Given the description of an element on the screen output the (x, y) to click on. 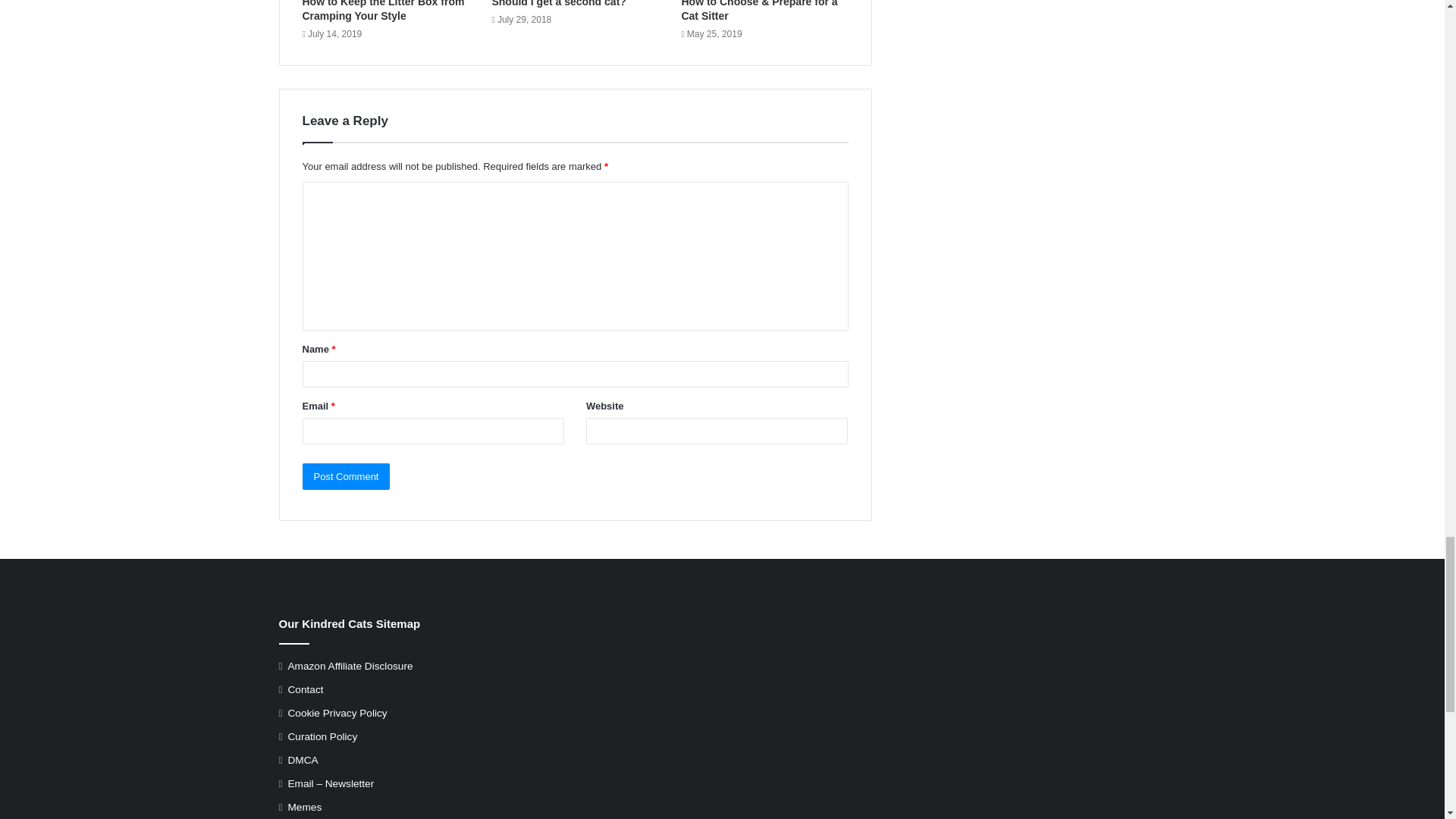
Post Comment (345, 476)
How to Keep the Litter Box from Cramping Your Style (382, 11)
Should I get a second cat? (559, 3)
